Given the description of an element on the screen output the (x, y) to click on. 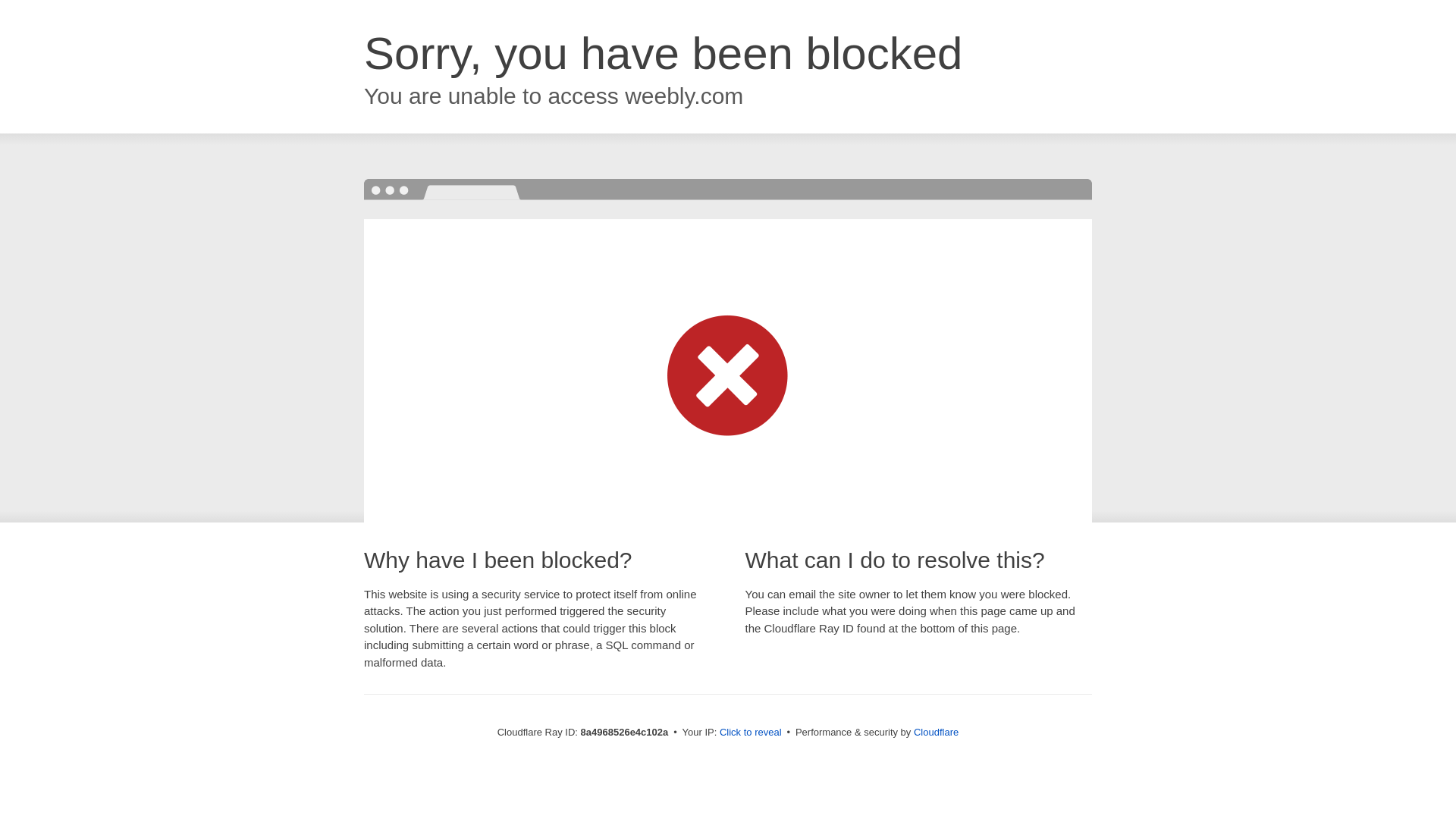
Cloudflare (936, 731)
Click to reveal (750, 732)
